Given the description of an element on the screen output the (x, y) to click on. 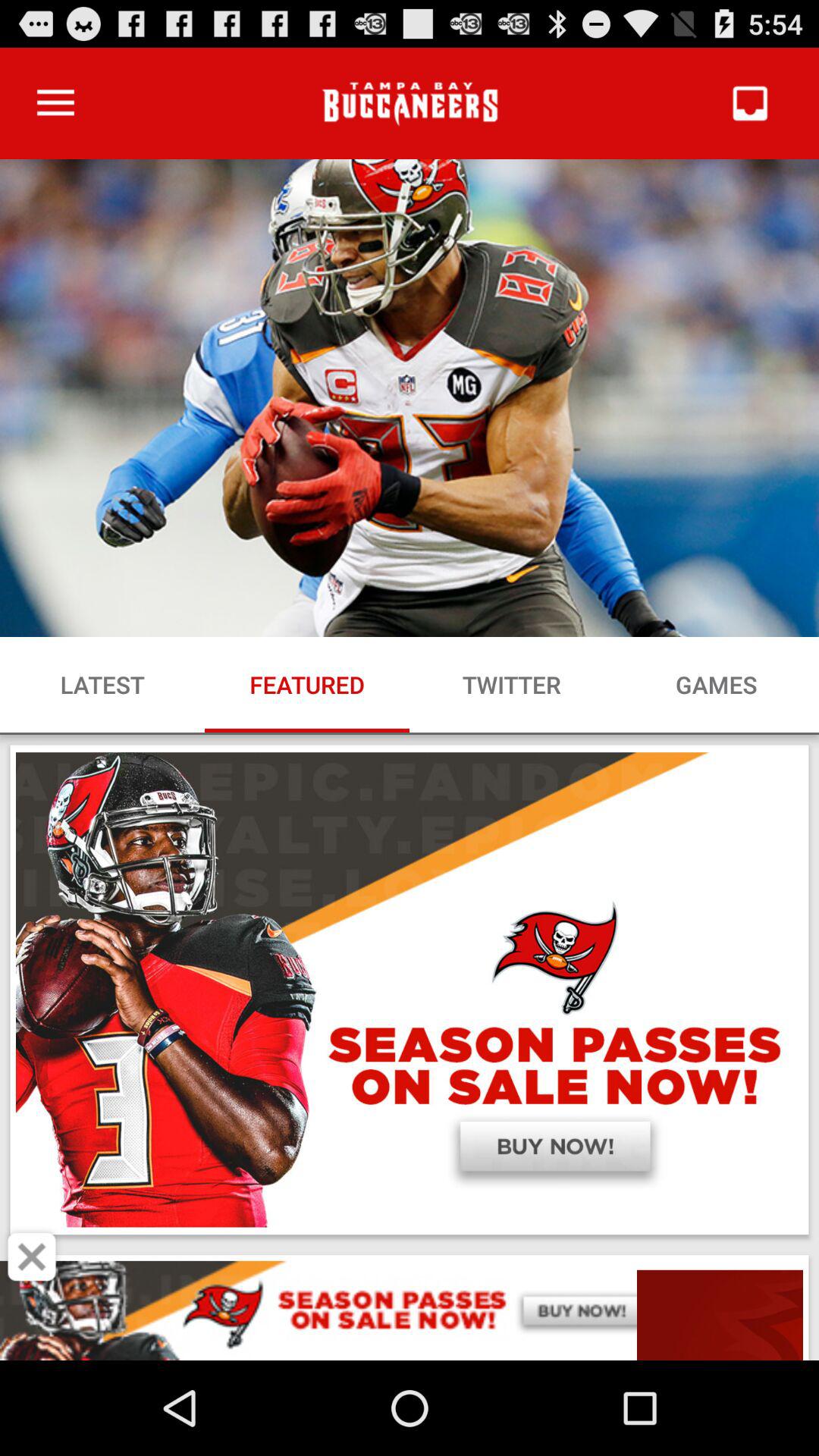
space where you access advertising (409, 1310)
